Given the description of an element on the screen output the (x, y) to click on. 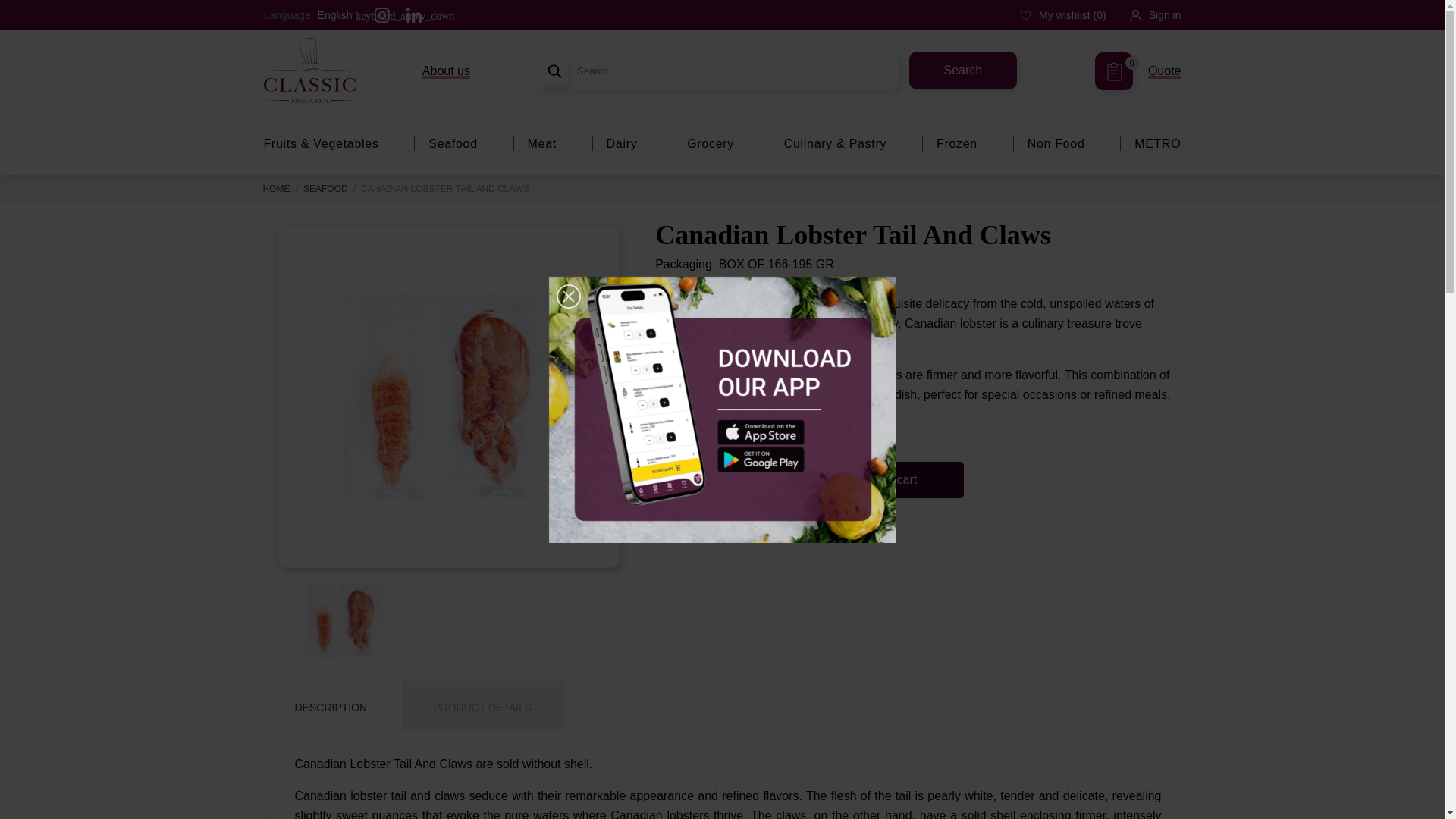
My wishlist (1063, 14)
Seafood (452, 143)
Sign in (1154, 14)
Log in to your customer account (1154, 14)
1 (690, 480)
About us (446, 71)
Quotation Cart (1137, 71)
Search (1137, 71)
